Given the description of an element on the screen output the (x, y) to click on. 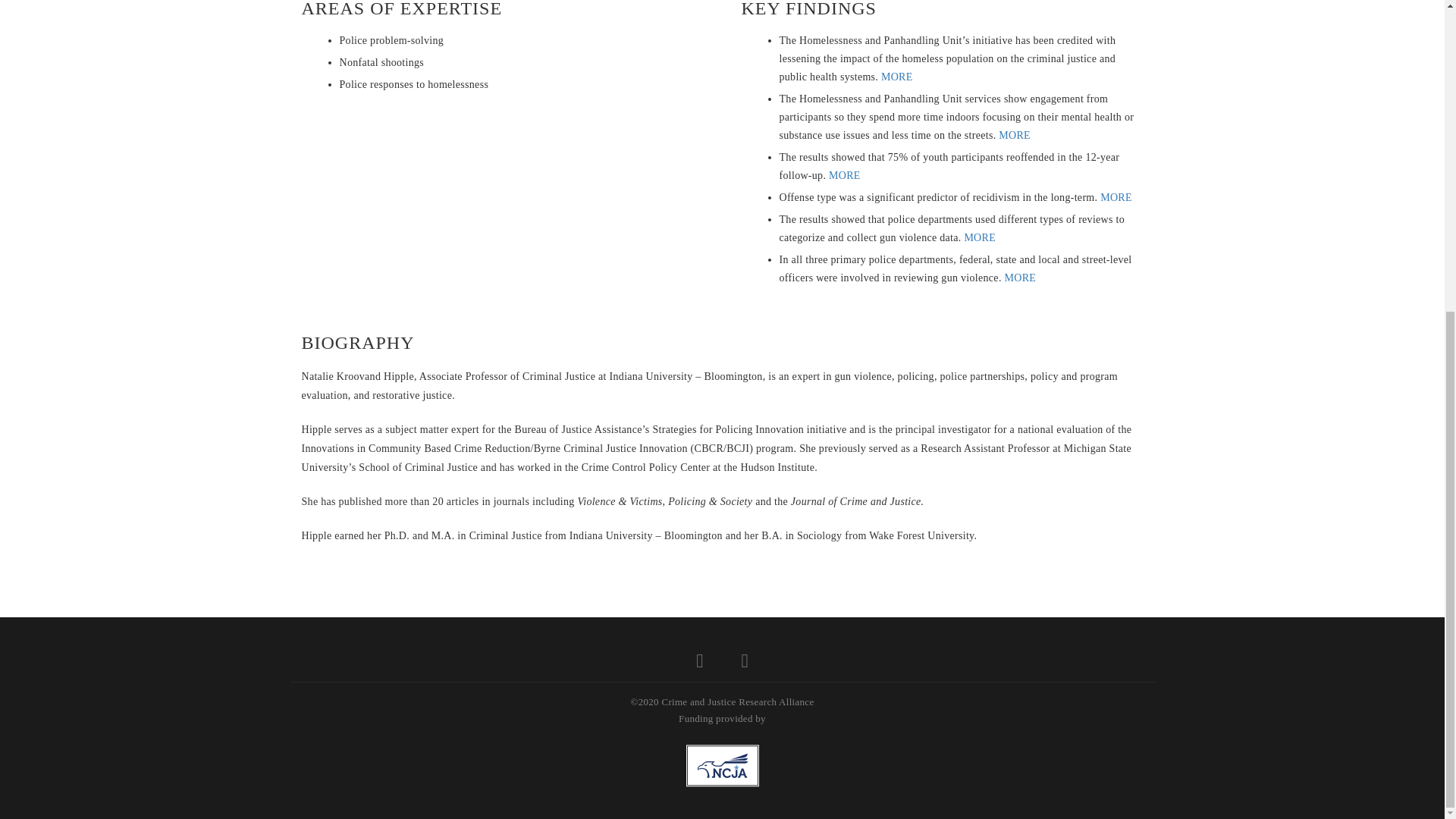
MORE (1019, 277)
MORE (896, 76)
Facebook (744, 663)
MORE (1014, 134)
MORE (844, 174)
MORE (1116, 197)
MORE (979, 237)
Twitter (699, 663)
